Given the description of an element on the screen output the (x, y) to click on. 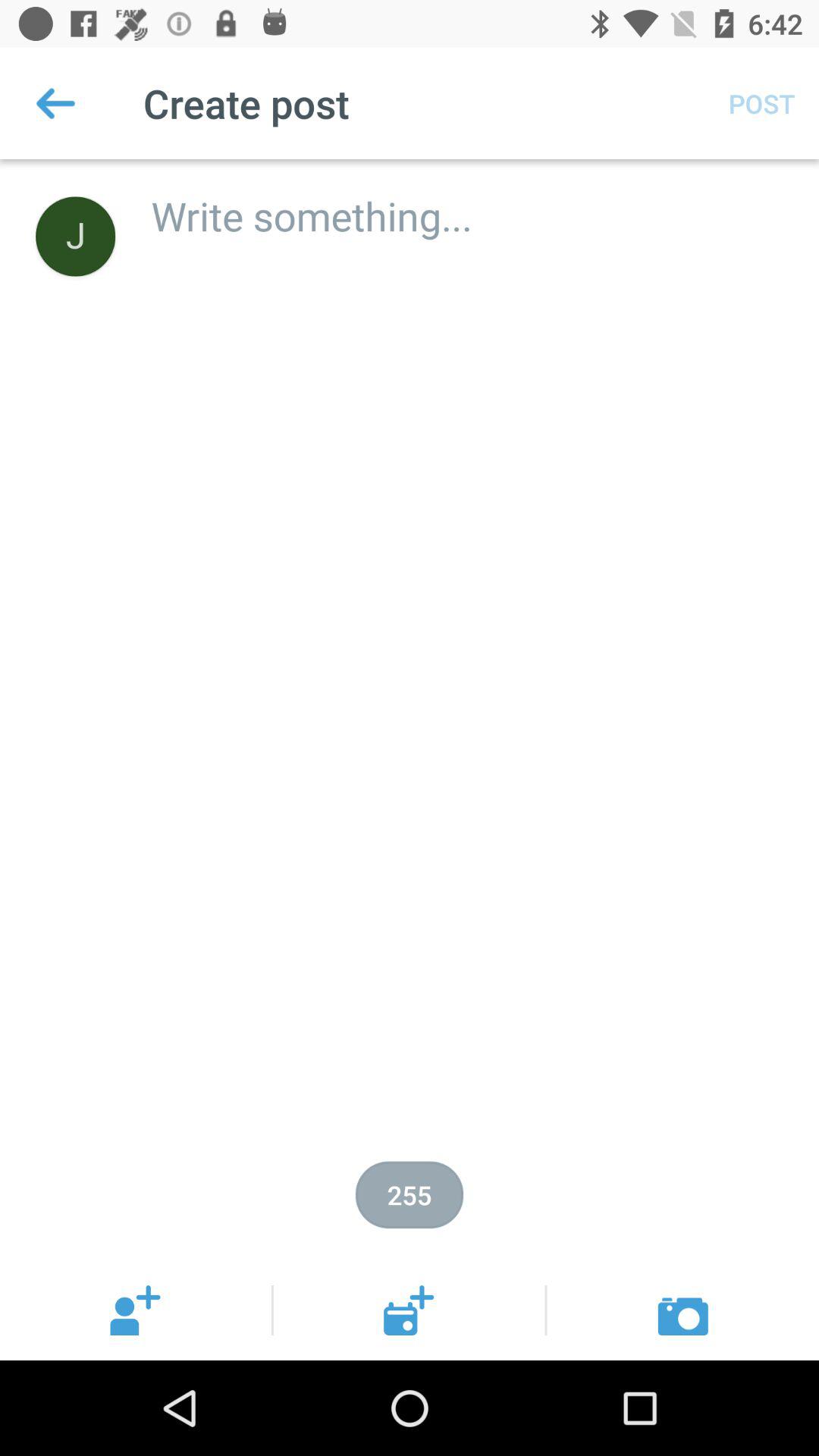
press item to the left of the create post item (55, 103)
